Given the description of an element on the screen output the (x, y) to click on. 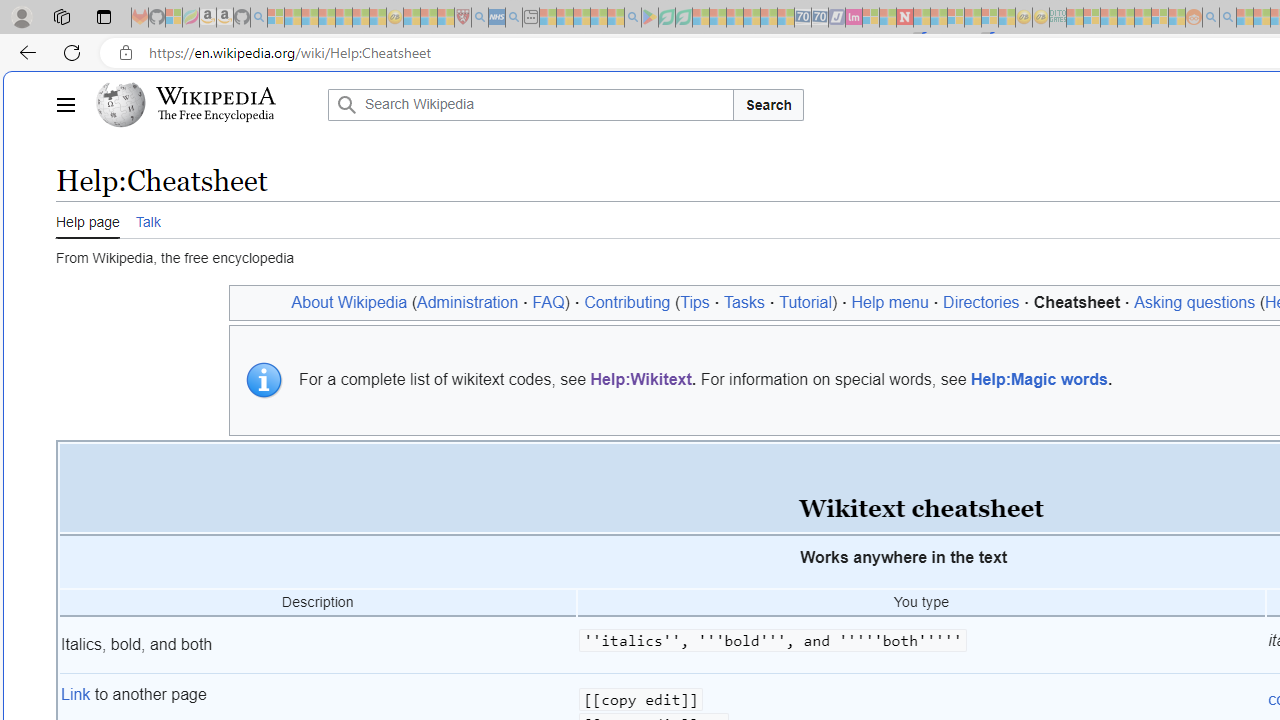
Wikipedia The Free Encyclopedia (206, 104)
Description (318, 603)
Pets - MSN - Sleeping (598, 17)
FAQ (548, 302)
Kinda Frugal - MSN - Sleeping (1142, 17)
